Given the description of an element on the screen output the (x, y) to click on. 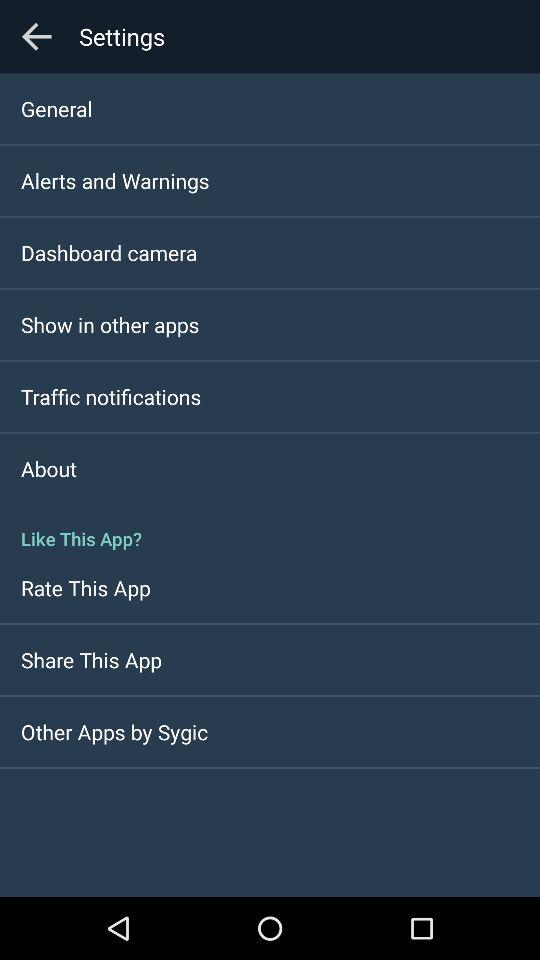
tap the alerts and warnings icon (115, 180)
